Given the description of an element on the screen output the (x, y) to click on. 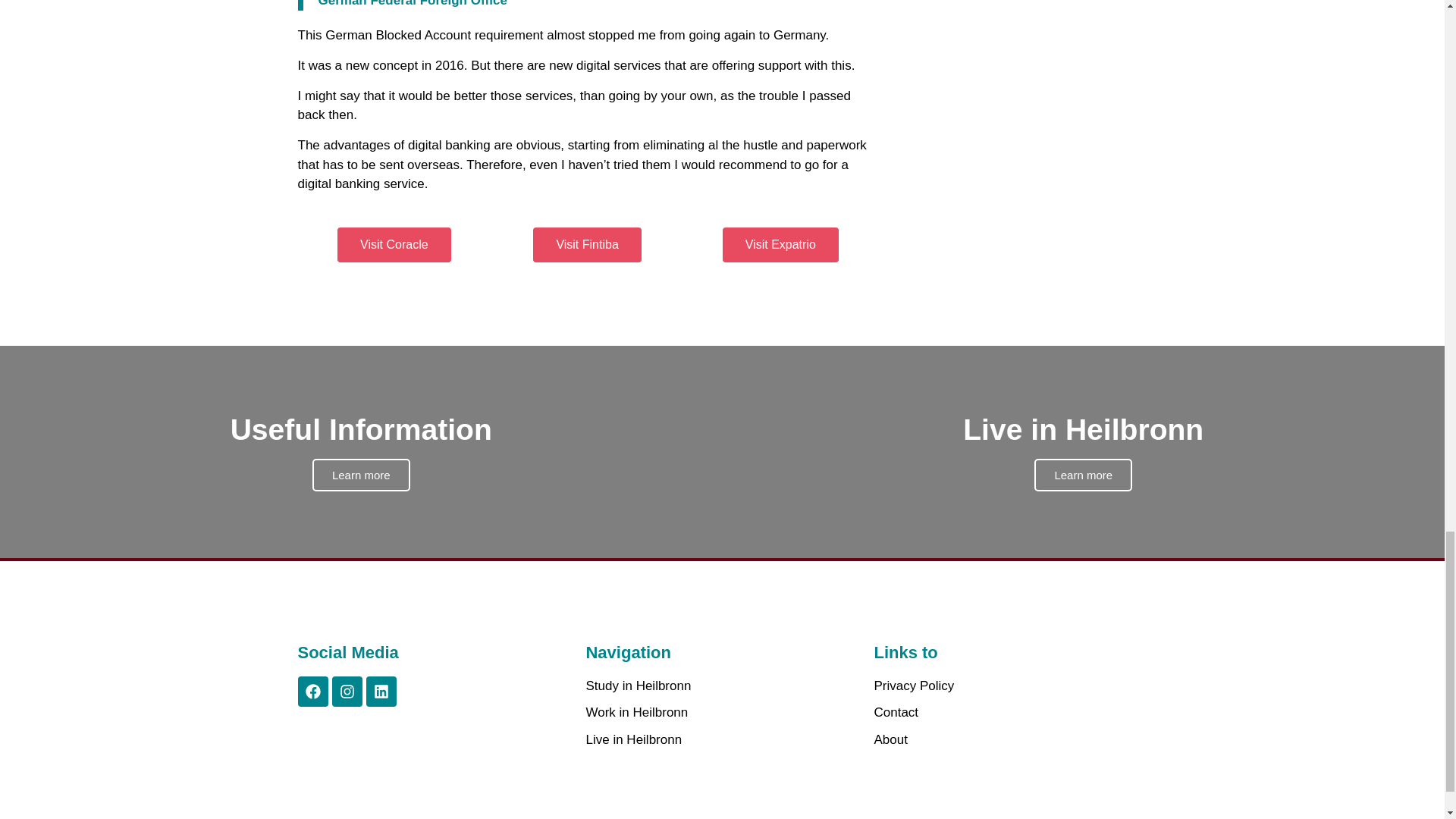
Live in Heilbronn (722, 740)
Privacy Policy (780, 244)
About (1010, 686)
Visit Fintiba (1010, 740)
Study in Heilbronn (586, 244)
Contact (722, 686)
Visit Coracle (1010, 712)
